Given the description of an element on the screen output the (x, y) to click on. 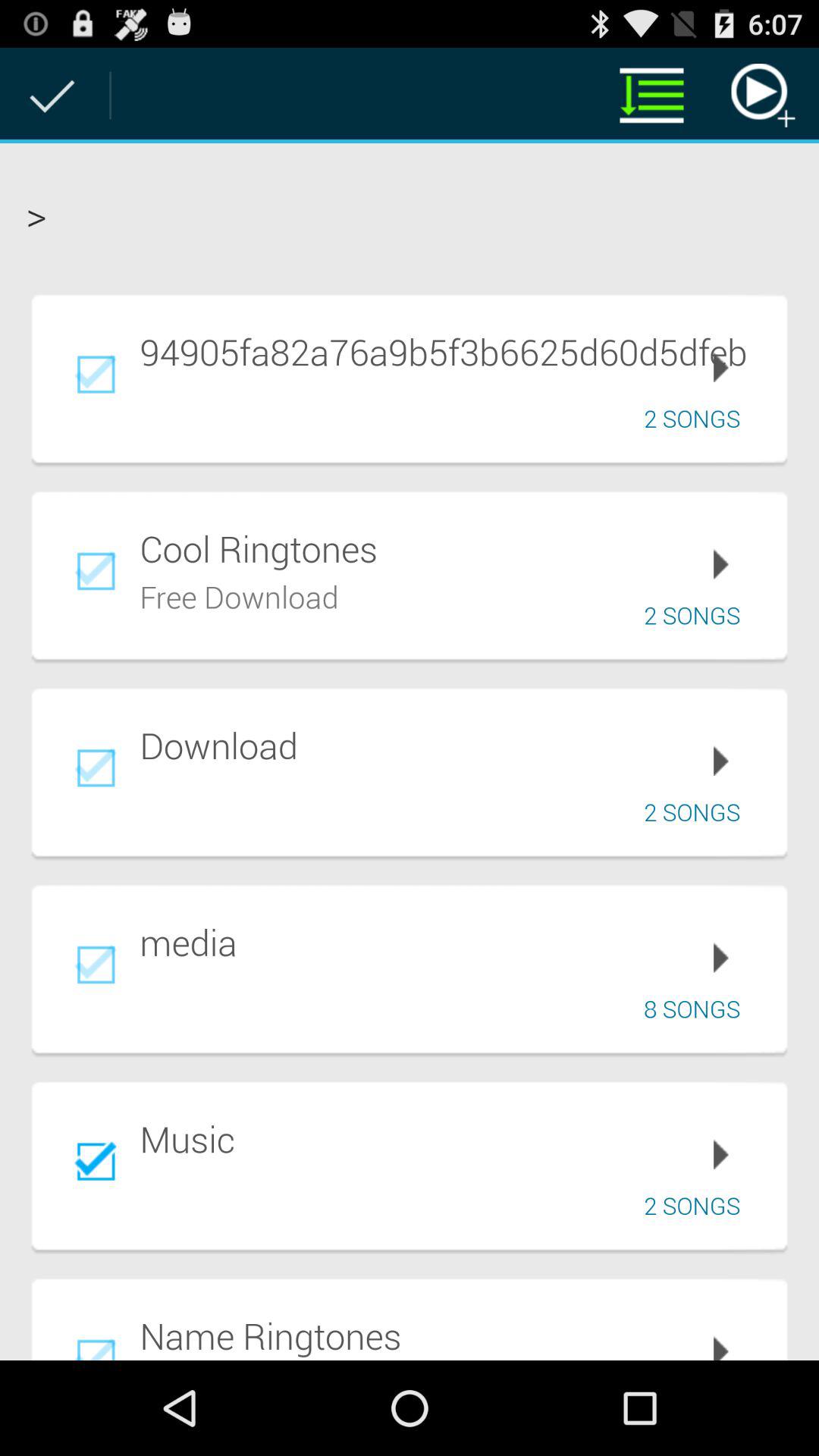
click 8 songs item (696, 1008)
